Given the description of an element on the screen output the (x, y) to click on. 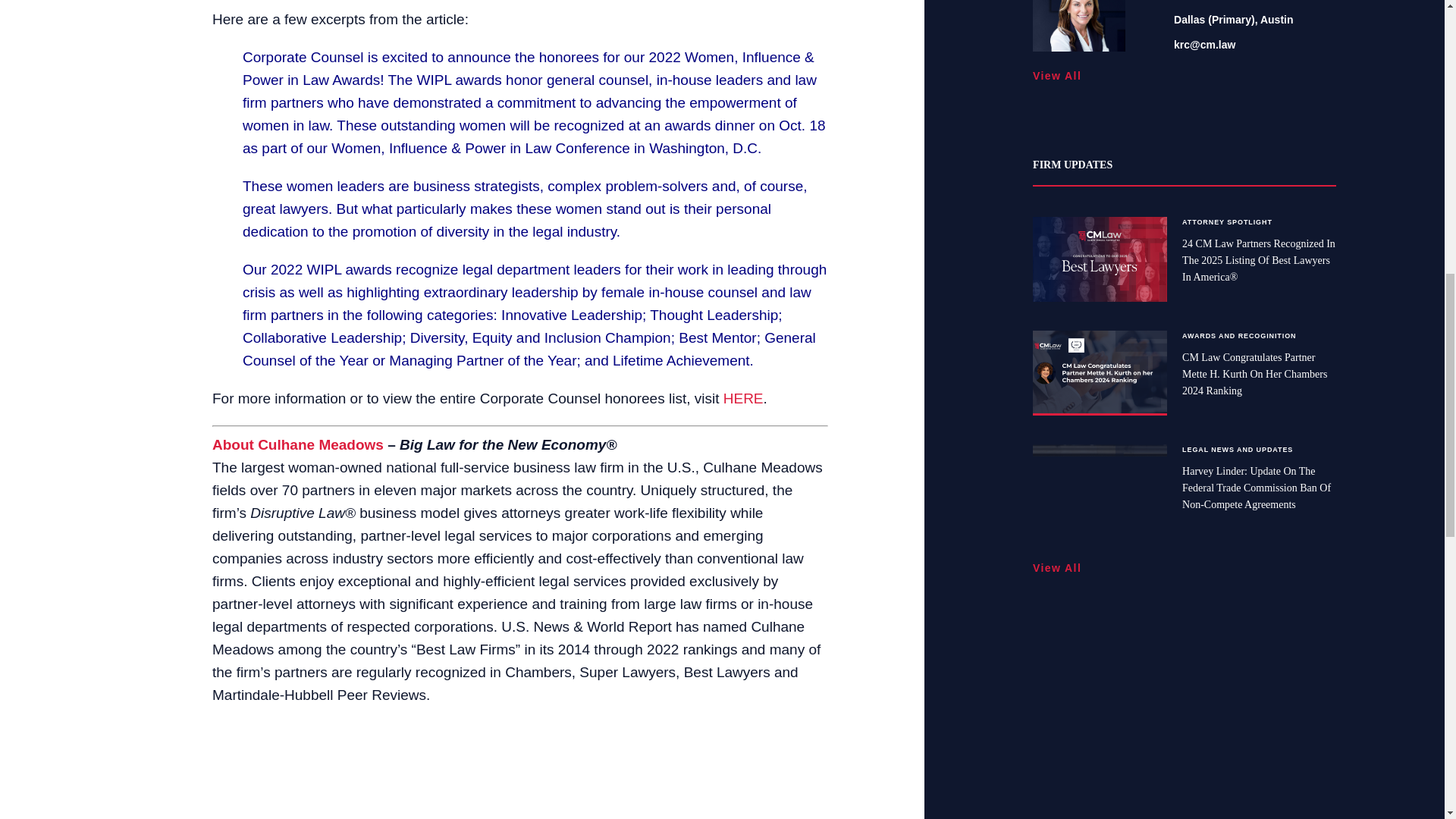
View All (1062, 567)
Kelly R. Culhane (1078, 25)
View All (1062, 75)
Kelly R. Culhane (1078, 28)
